Given the description of an element on the screen output the (x, y) to click on. 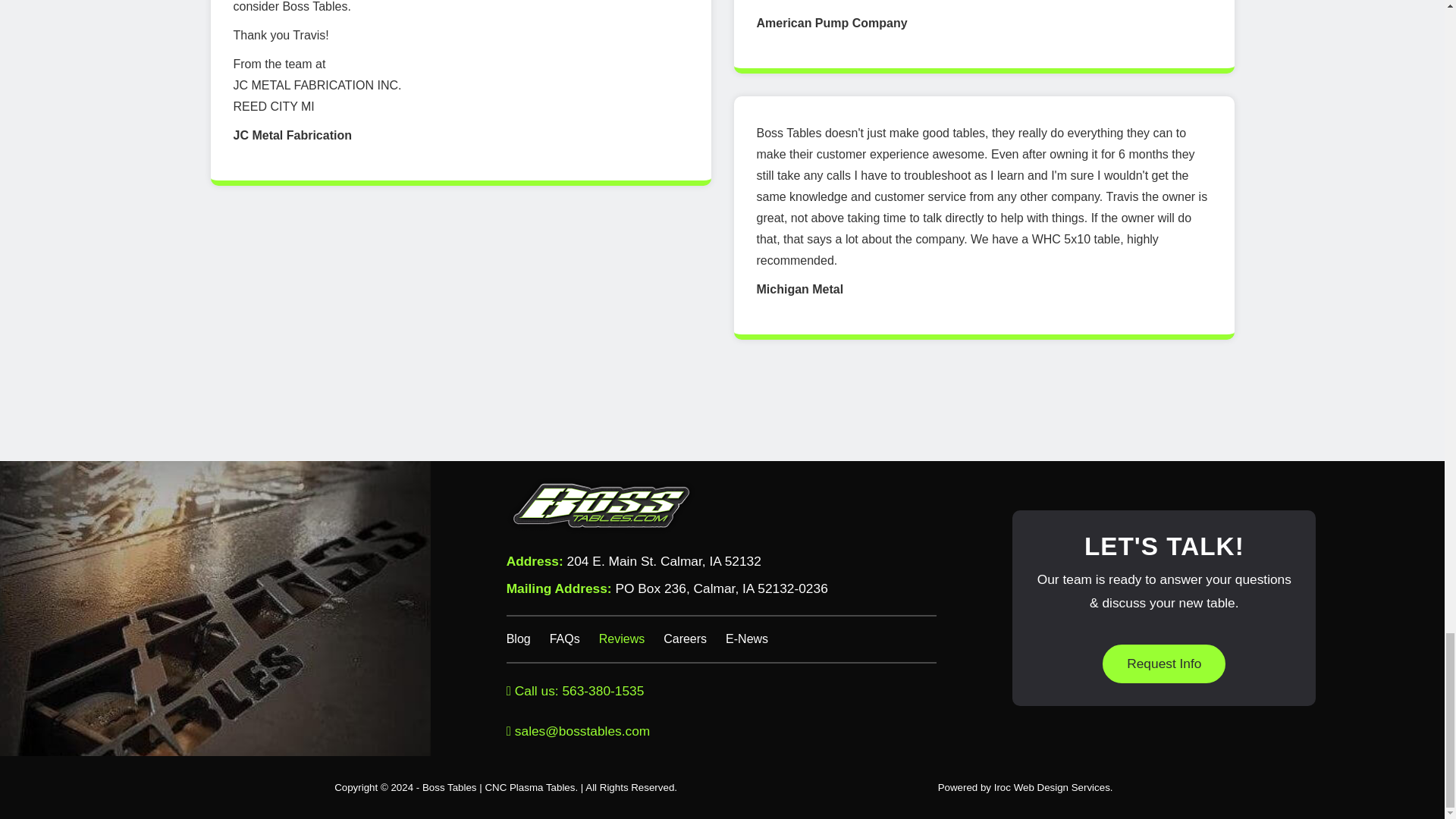
Bosstables.com Logo (600, 505)
Iroc Web Design Services (1051, 787)
